Given the description of an element on the screen output the (x, y) to click on. 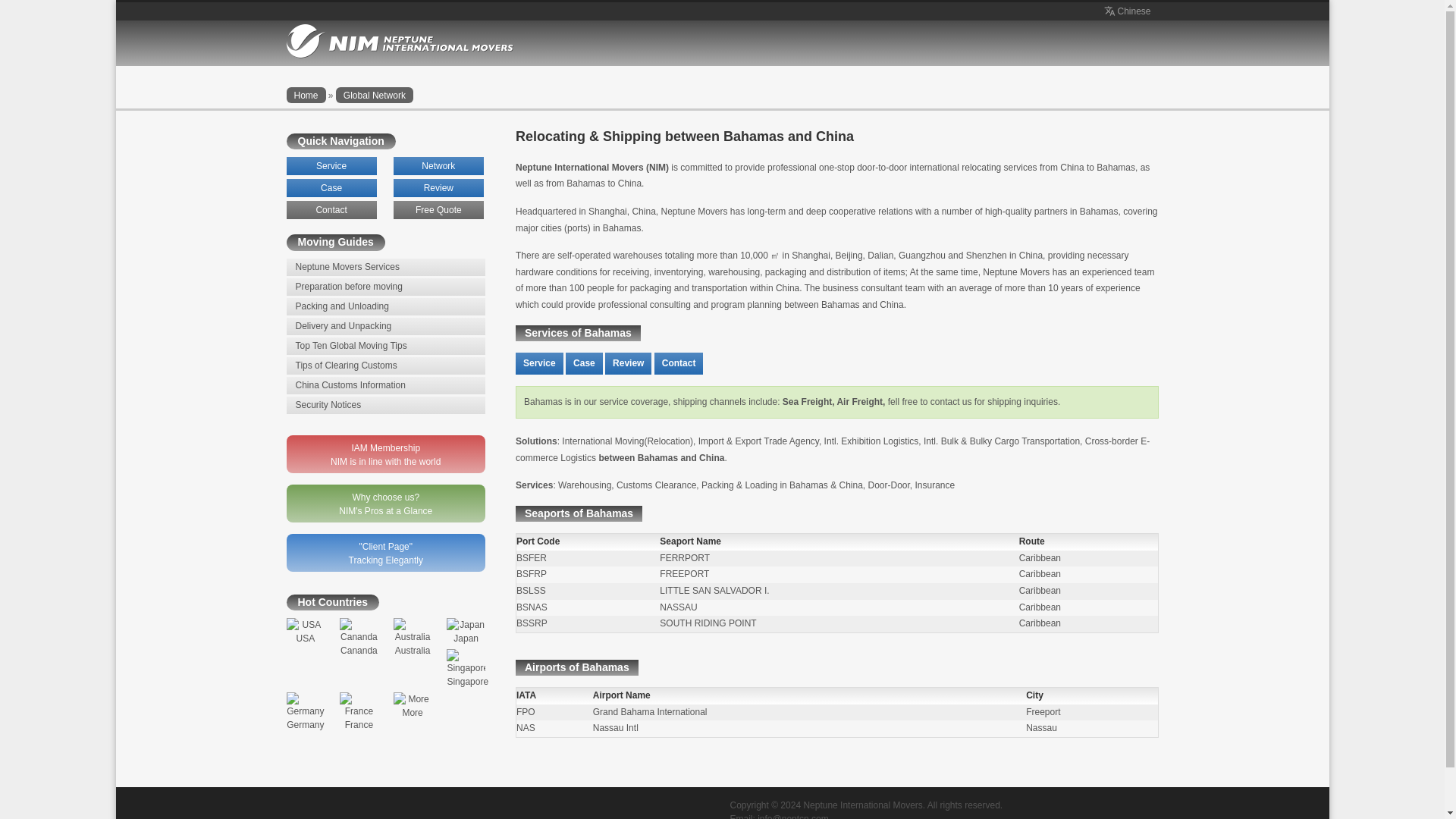
Review (627, 363)
Preparation before moving (386, 286)
Germany (305, 711)
Cananda (358, 637)
USA (305, 630)
Japan (465, 630)
Case (584, 363)
Review (438, 188)
Tips of Clearing Customs (386, 365)
Singapore (466, 668)
Home (306, 95)
Service (331, 166)
Chinese (1126, 11)
China Customs Information (386, 384)
More (412, 705)
